Given the description of an element on the screen output the (x, y) to click on. 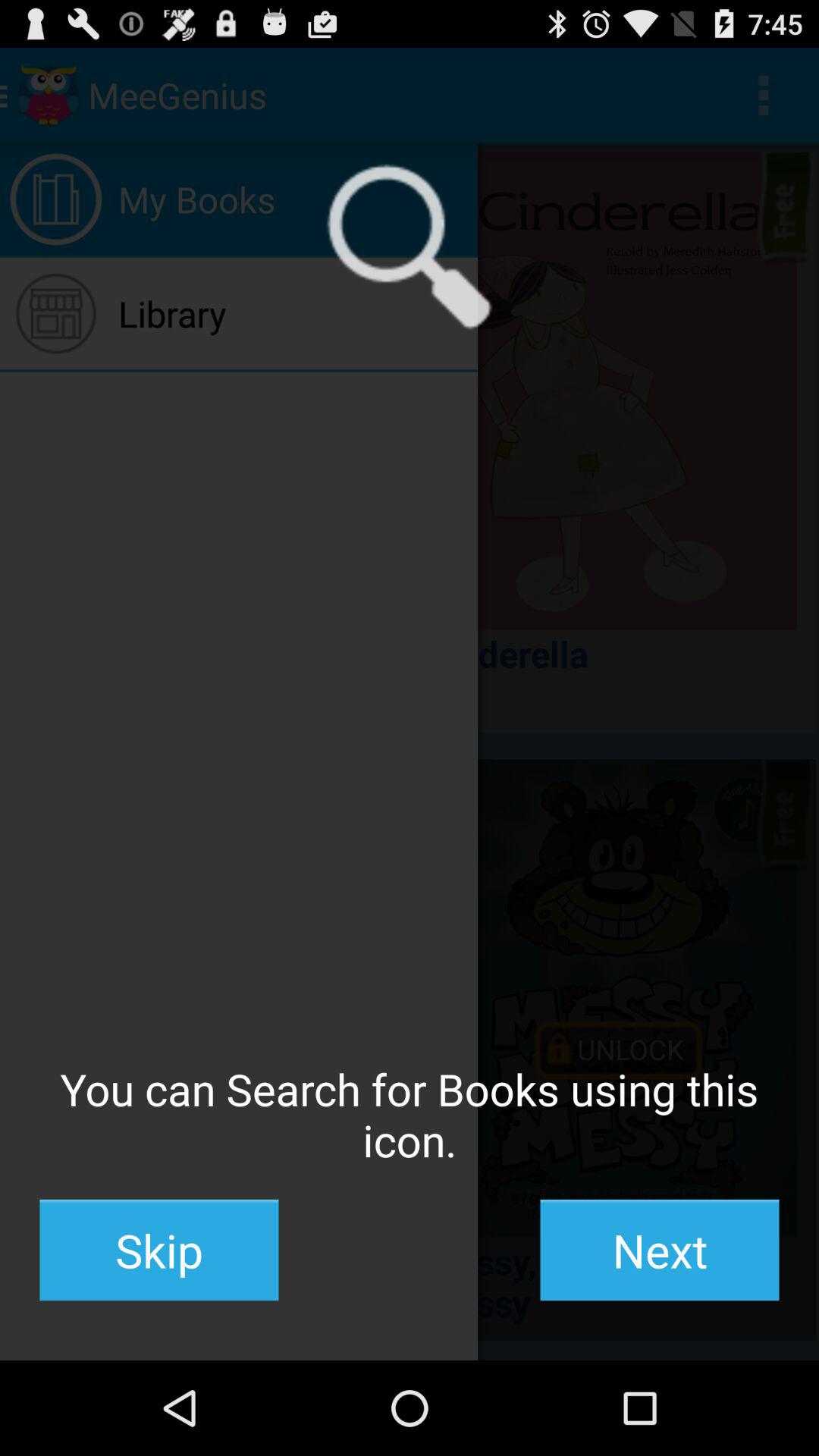
turn on icon to the left of next button (158, 1249)
